Given the description of an element on the screen output the (x, y) to click on. 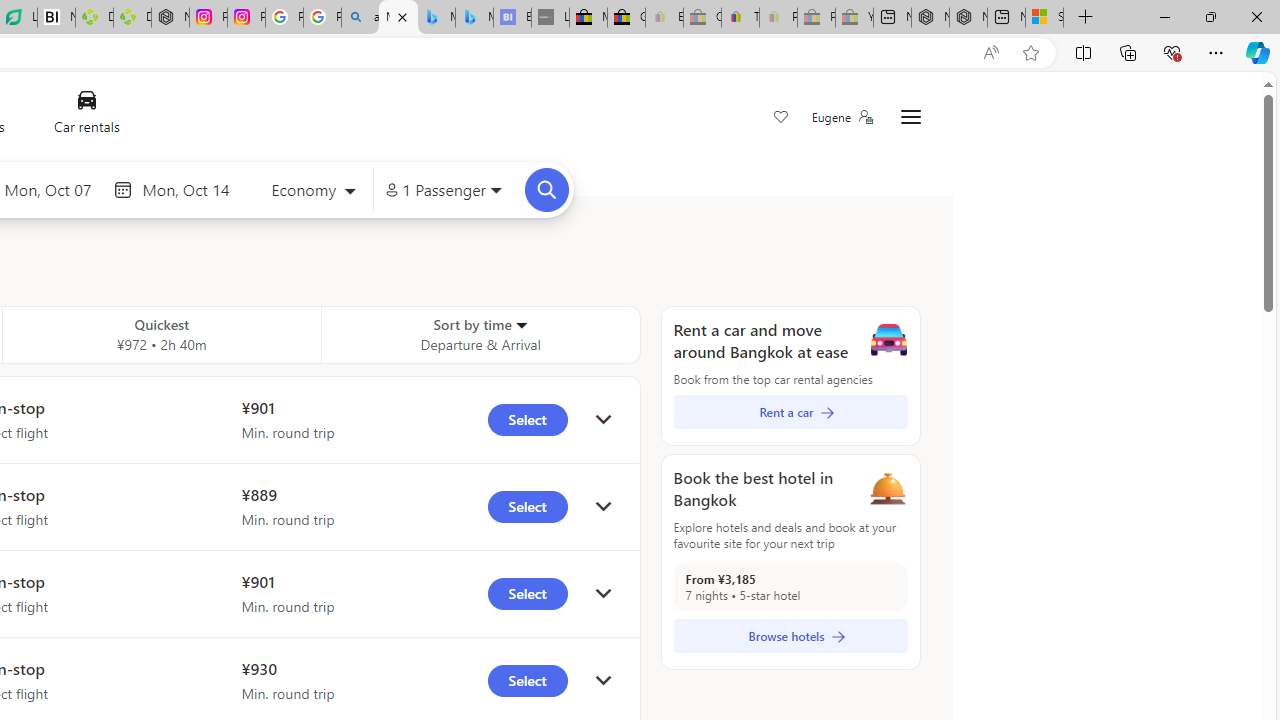
click to get details (603, 680)
Nvidia va a poner a prueba la paciencia de los inversores (56, 17)
Car rentals (85, 116)
Eugene (841, 117)
Save (780, 118)
